Given the description of an element on the screen output the (x, y) to click on. 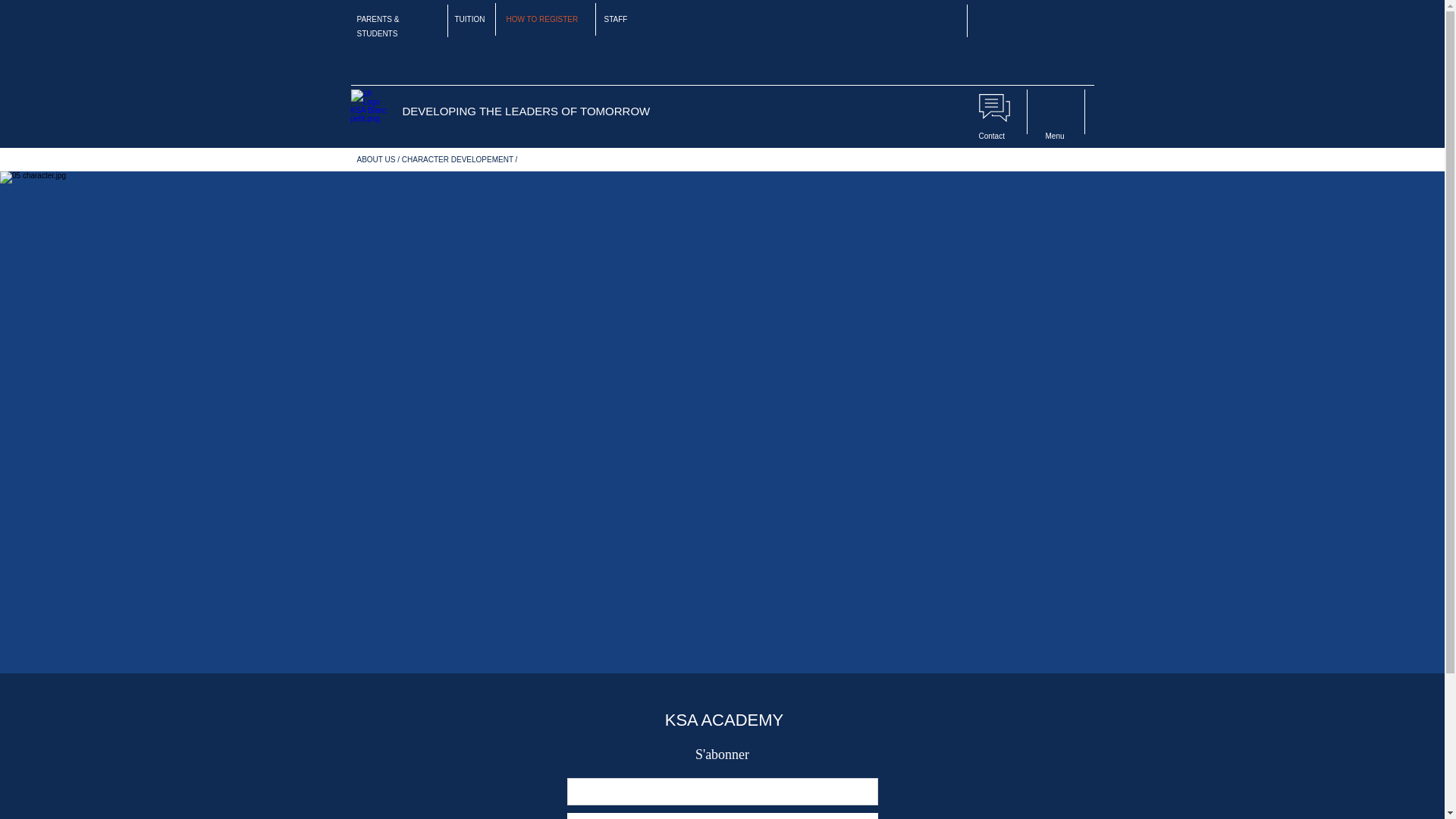
OK (722, 816)
Menu (1054, 135)
HOW TO REGISTER (542, 19)
KSA ACADEMY (724, 719)
Contact (991, 135)
TUITION (469, 19)
